Given the description of an element on the screen output the (x, y) to click on. 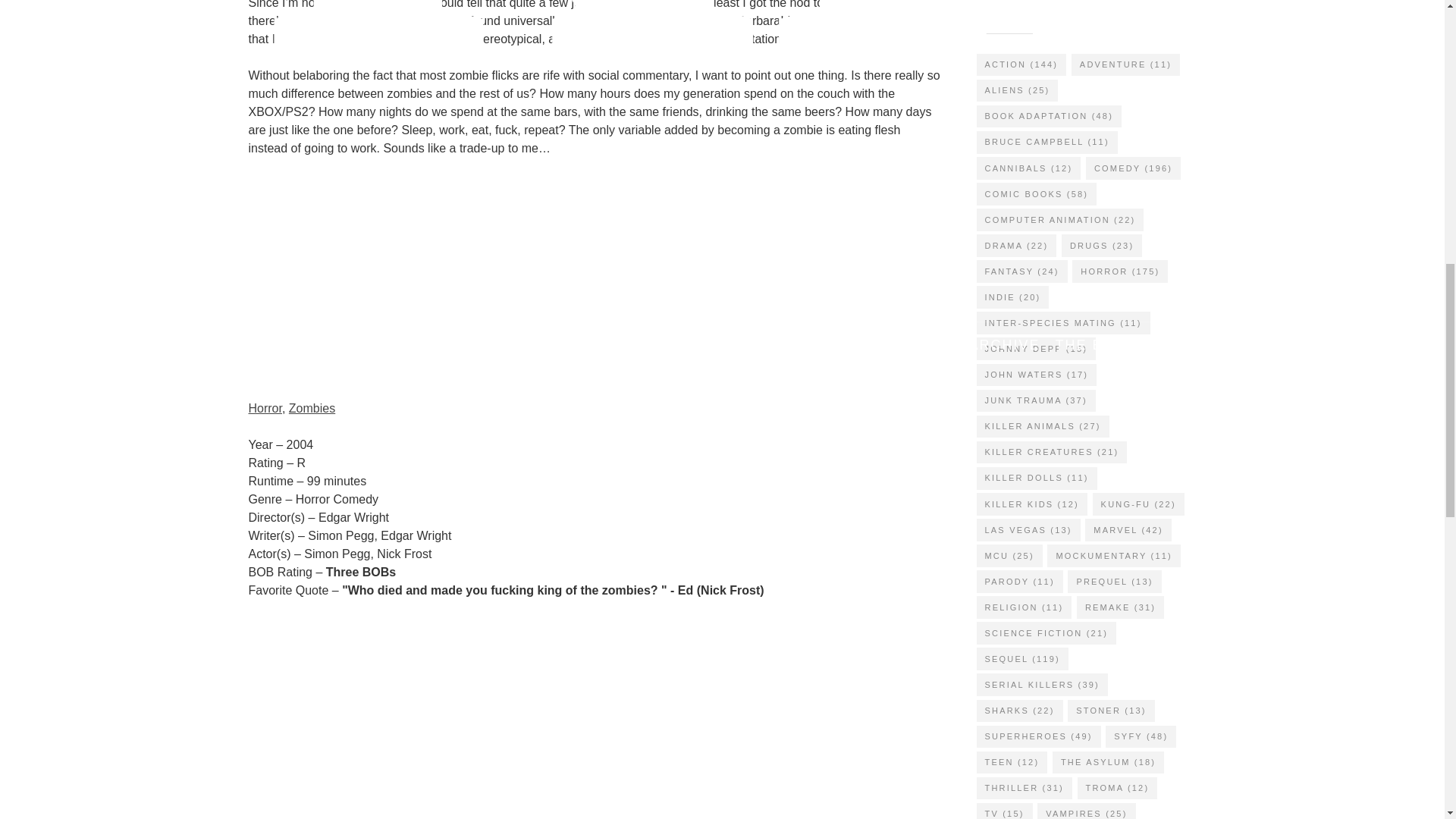
REVIEW ARCHIVE (970, 345)
MOVIE WATCHING CALENDAR (516, 345)
HOME (361, 345)
Zombies (311, 408)
DAILY PROPAGANDA ARCHIVE (767, 345)
Horror (265, 408)
THE BOB SYSTEM (1124, 345)
